Given the description of an element on the screen output the (x, y) to click on. 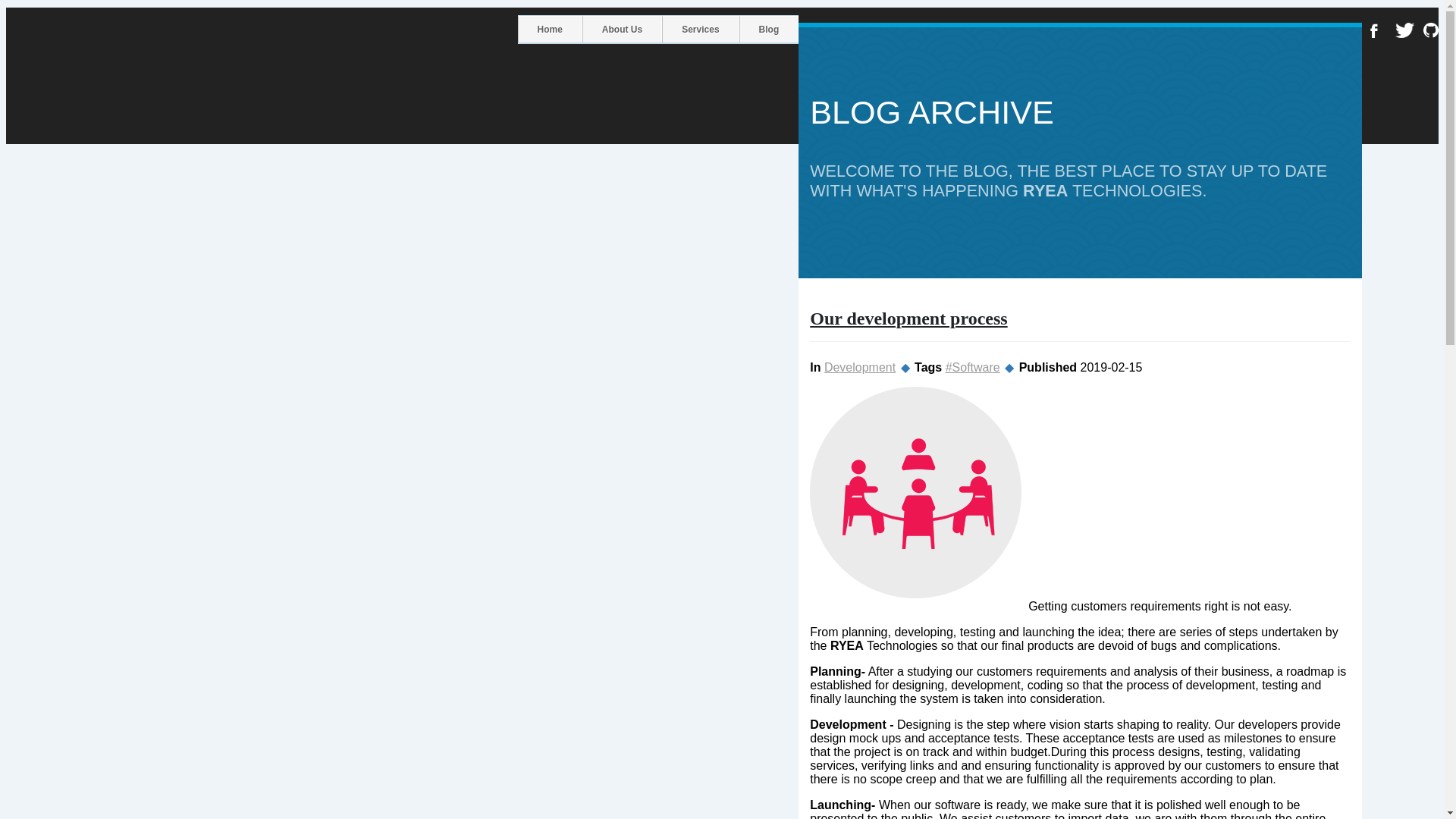
Development (859, 367)
Services (700, 28)
About Us (622, 28)
Our development process (908, 318)
Blog (769, 28)
Home (548, 28)
